Given the description of an element on the screen output the (x, y) to click on. 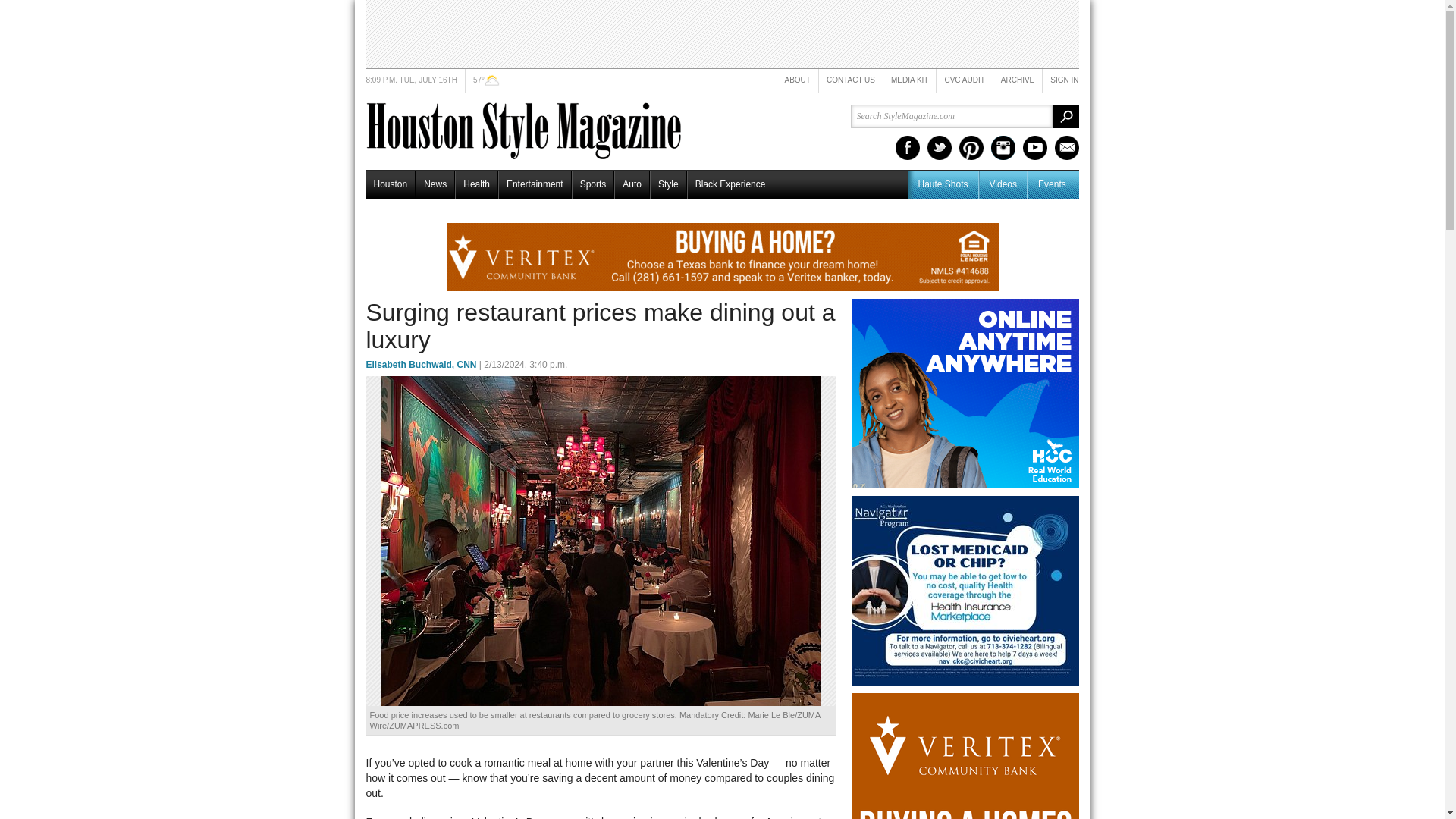
News (435, 184)
Twitter (938, 147)
Health (476, 184)
Haute Shots (943, 184)
SIGN IN (1063, 80)
Instagram (1002, 147)
Houston (389, 184)
Auto (631, 184)
Entertainment (534, 184)
Style (667, 184)
Sports (593, 184)
ABOUT (796, 80)
Pintrest (970, 147)
MEDIA KIT (909, 80)
Black Experience (730, 184)
